Given the description of an element on the screen output the (x, y) to click on. 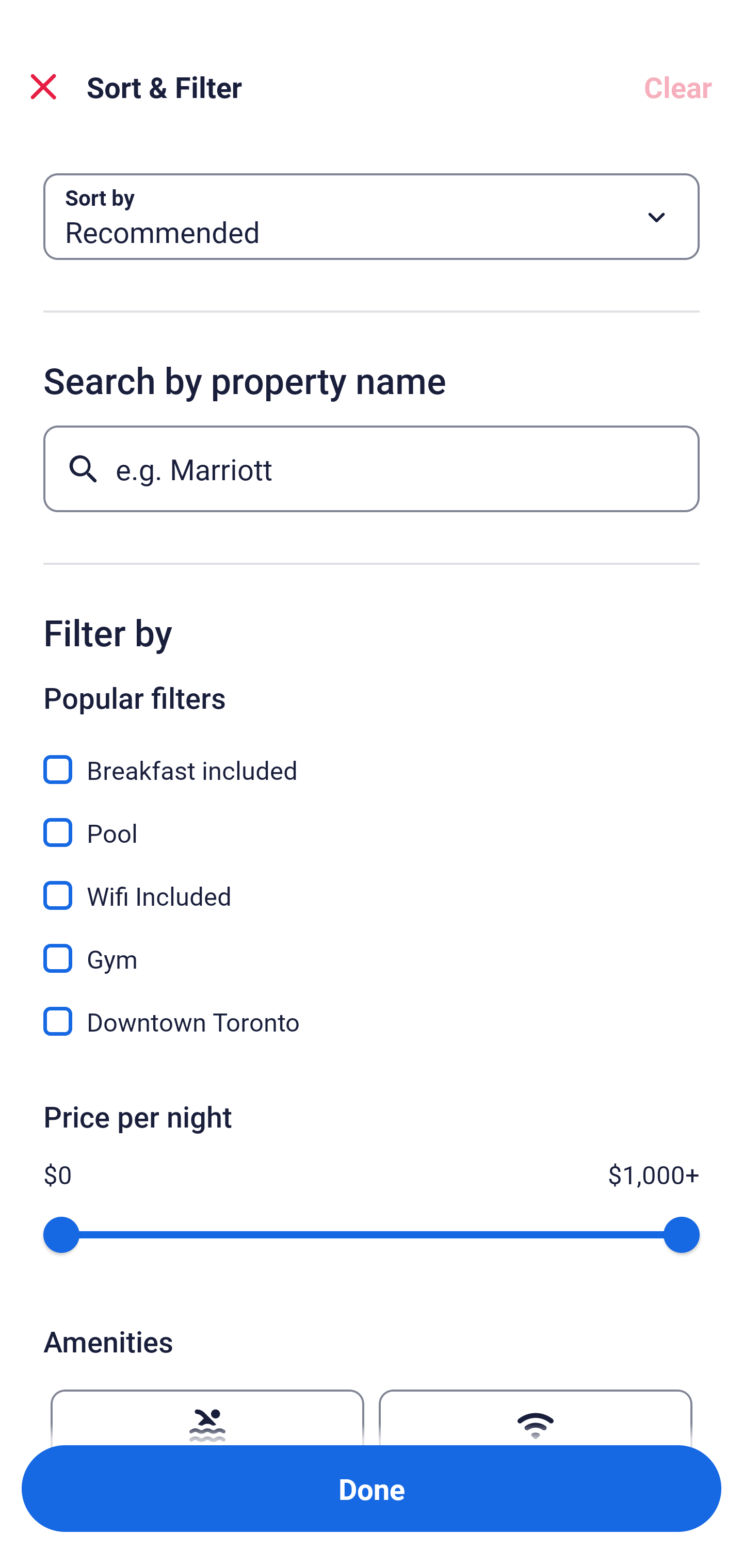
Close Sort and Filter (43, 86)
Clear (677, 86)
Sort by Button Recommended (371, 217)
e.g. Marriott Button (371, 468)
Breakfast included, Breakfast included (371, 757)
Pool, Pool (371, 821)
Wifi Included, Wifi Included (371, 883)
Gym, Gym (371, 946)
Downtown Toronto, Downtown Toronto (371, 1021)
Apply and close Sort and Filter Done (371, 1488)
